Given the description of an element on the screen output the (x, y) to click on. 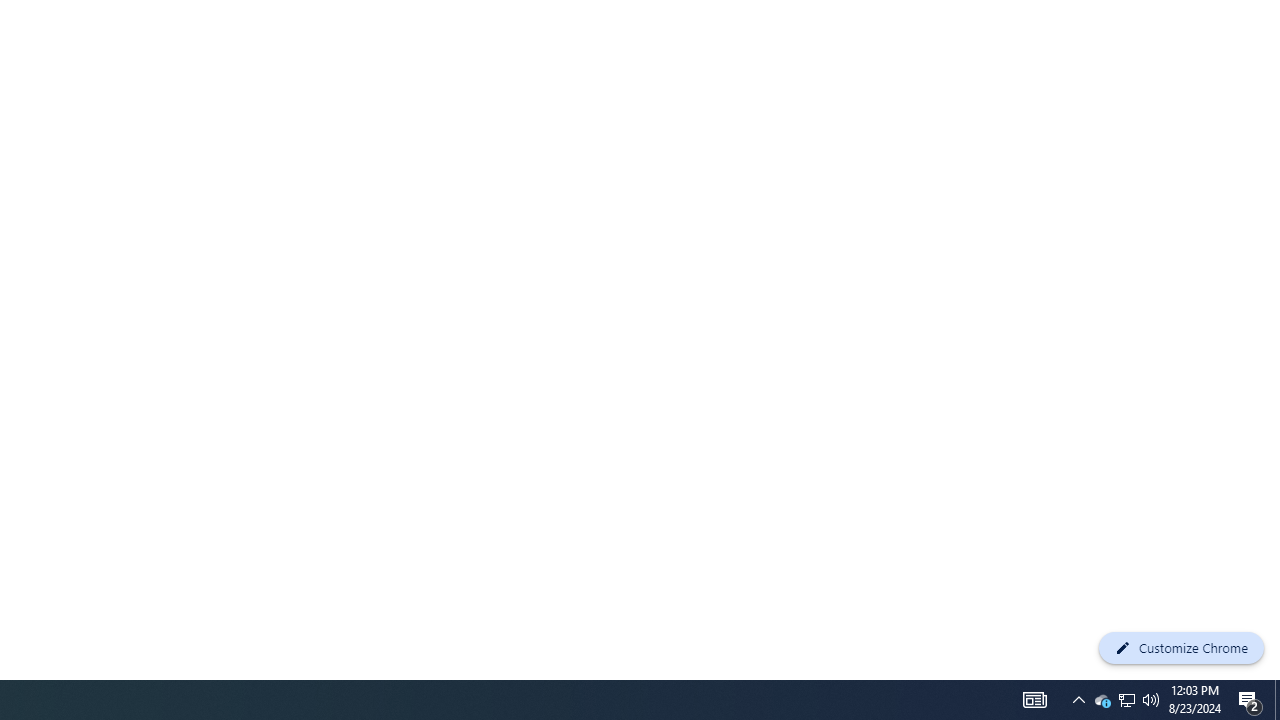
Customize Chrome (1181, 647)
